Given the description of an element on the screen output the (x, y) to click on. 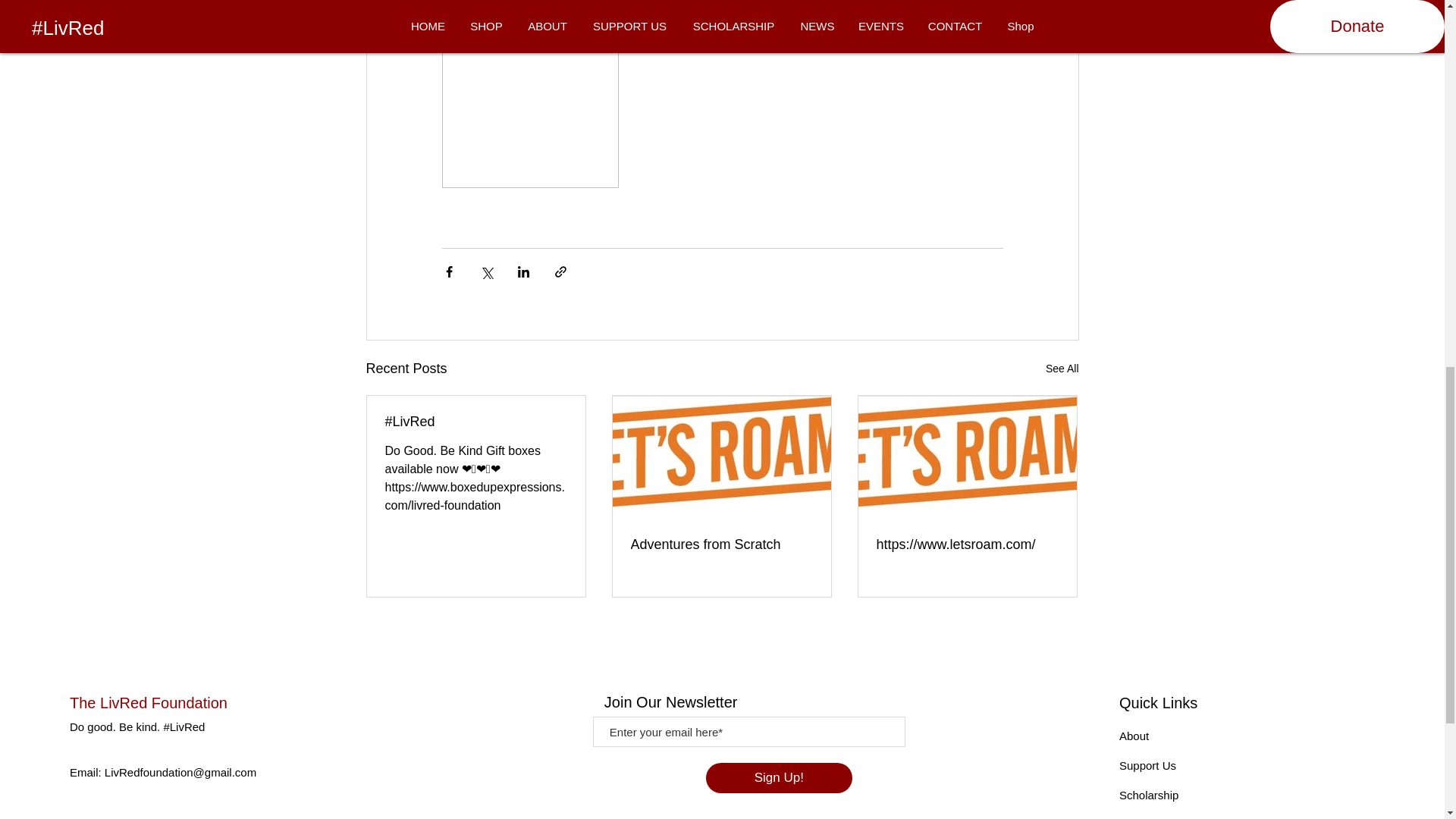
Scholarship (1148, 794)
Adventures from Scratch (721, 544)
Sign Up! (778, 777)
About (1133, 735)
Support Us (1147, 765)
See All (1061, 368)
